Given the description of an element on the screen output the (x, y) to click on. 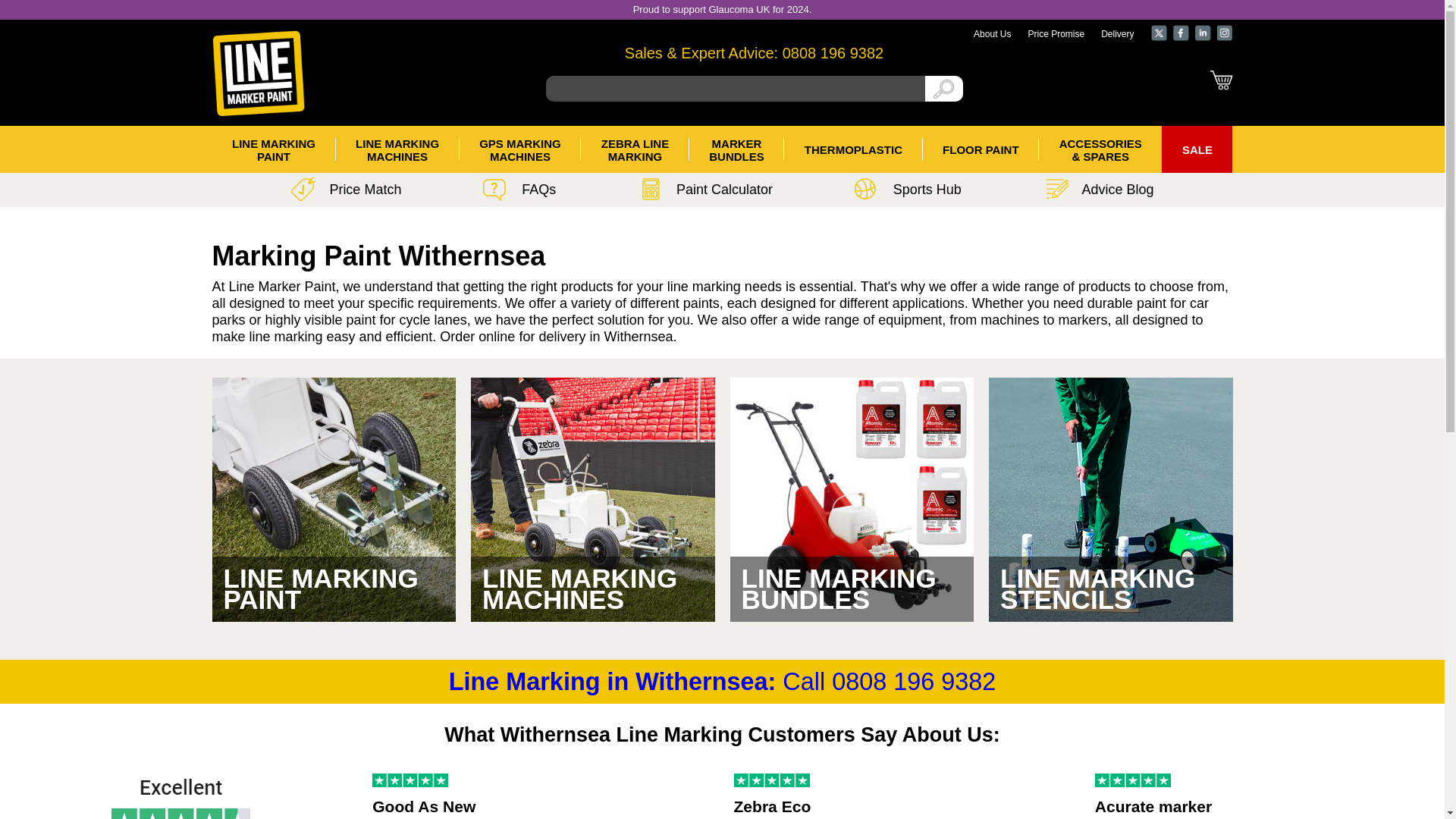
Basket (274, 149)
LinkedIn (1218, 79)
0808 196 9382 (1203, 32)
Facebook (833, 53)
X (398, 149)
About Us (1180, 32)
Instagram (1159, 32)
Price Promise (992, 33)
Delivery (1223, 32)
